Given the description of an element on the screen output the (x, y) to click on. 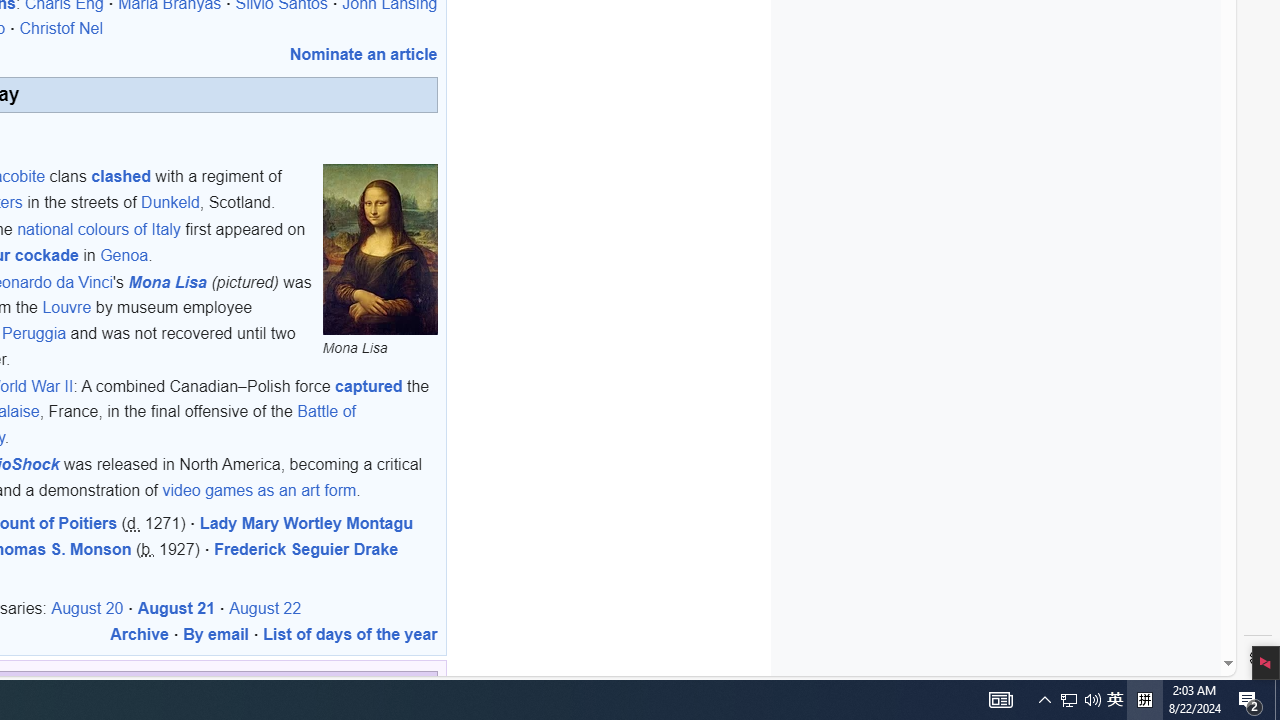
Christof Nel (61, 29)
Dunkeld (169, 201)
August 20 (87, 608)
By email (216, 633)
video games as an art form (259, 489)
Mona Lisa (379, 250)
Nominate an article (363, 53)
national colours of Italy (98, 230)
Frederick Seguier Drake (306, 549)
Archive (139, 633)
captured (369, 386)
Louvre (67, 307)
Genoa (123, 255)
Nominate an article (363, 53)
